Given the description of an element on the screen output the (x, y) to click on. 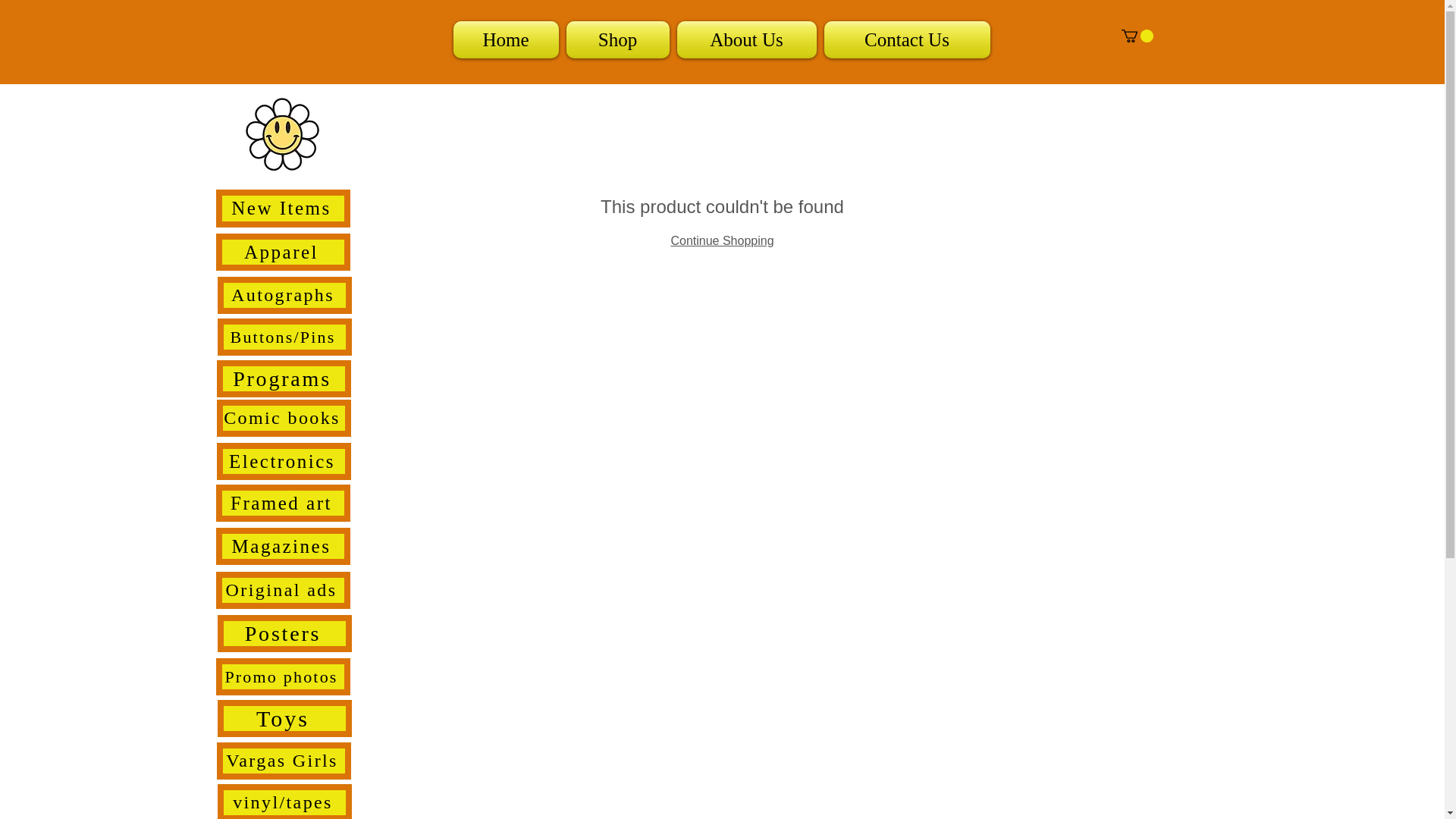
Contact Us (905, 39)
Home (507, 39)
Shop (617, 39)
Apparel (282, 252)
Continue Shopping (721, 240)
New Items (282, 208)
About Us (746, 39)
